Given the description of an element on the screen output the (x, y) to click on. 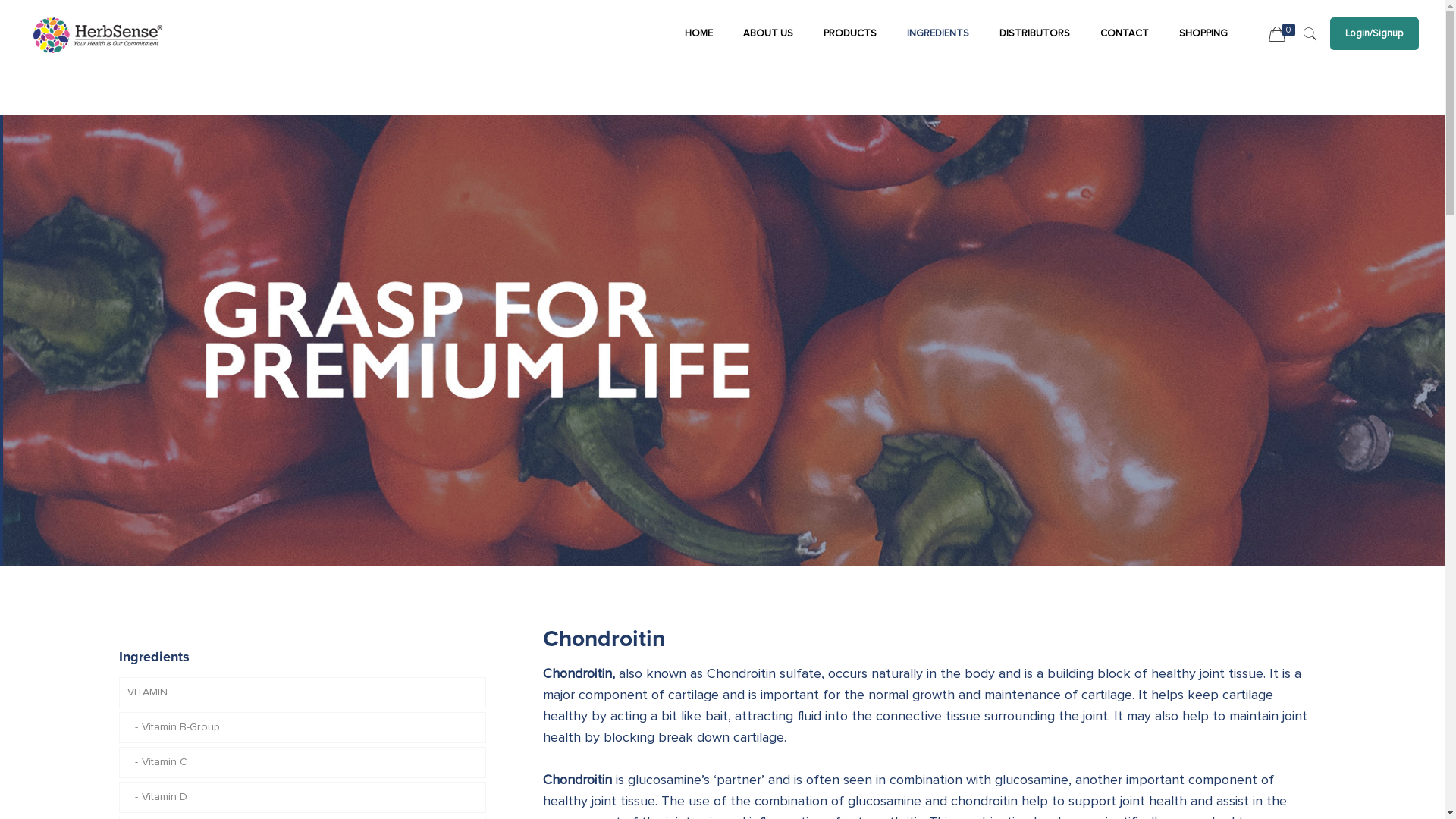
Vitamin D Element type: text (302, 796)
Vitamin C Element type: text (302, 762)
SHOPPING Element type: text (1203, 34)
ABOUT US Element type: text (768, 34)
HOME Element type: text (698, 34)
Vitamin B-Group Element type: text (302, 727)
0 Element type: text (1283, 34)
PRODUCTS Element type: text (849, 34)
CONTACT Element type: text (1124, 34)
INGREDIENTS Element type: text (937, 34)
Herbsense Element type: hover (97, 34)
VITAMIN Element type: text (302, 692)
DISTRIBUTORS Element type: text (1034, 34)
Login/Signup Element type: text (1374, 33)
